Given the description of an element on the screen output the (x, y) to click on. 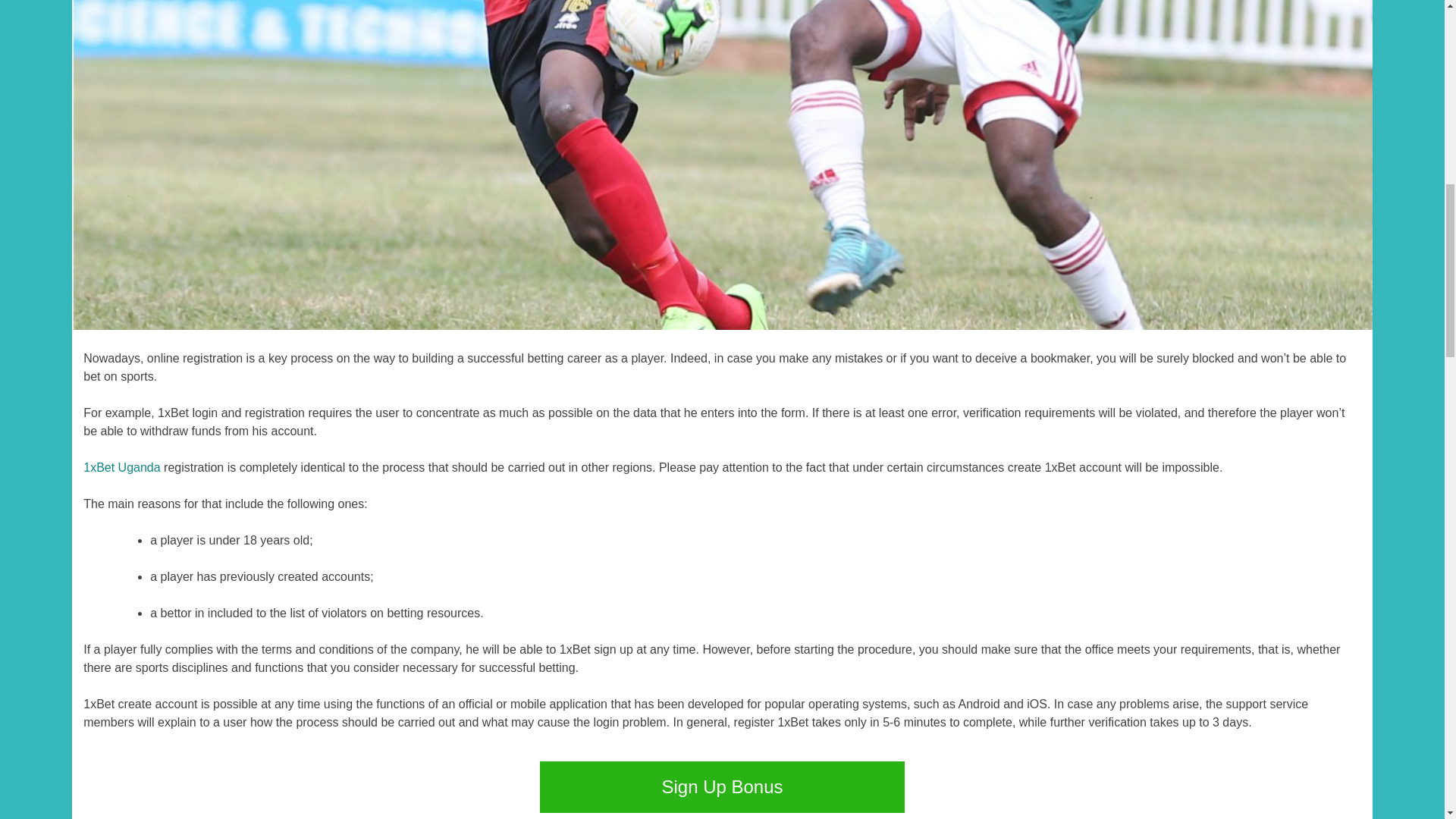
1xBet Uganda (121, 467)
Sign Up Bonus (722, 787)
